Given the description of an element on the screen output the (x, y) to click on. 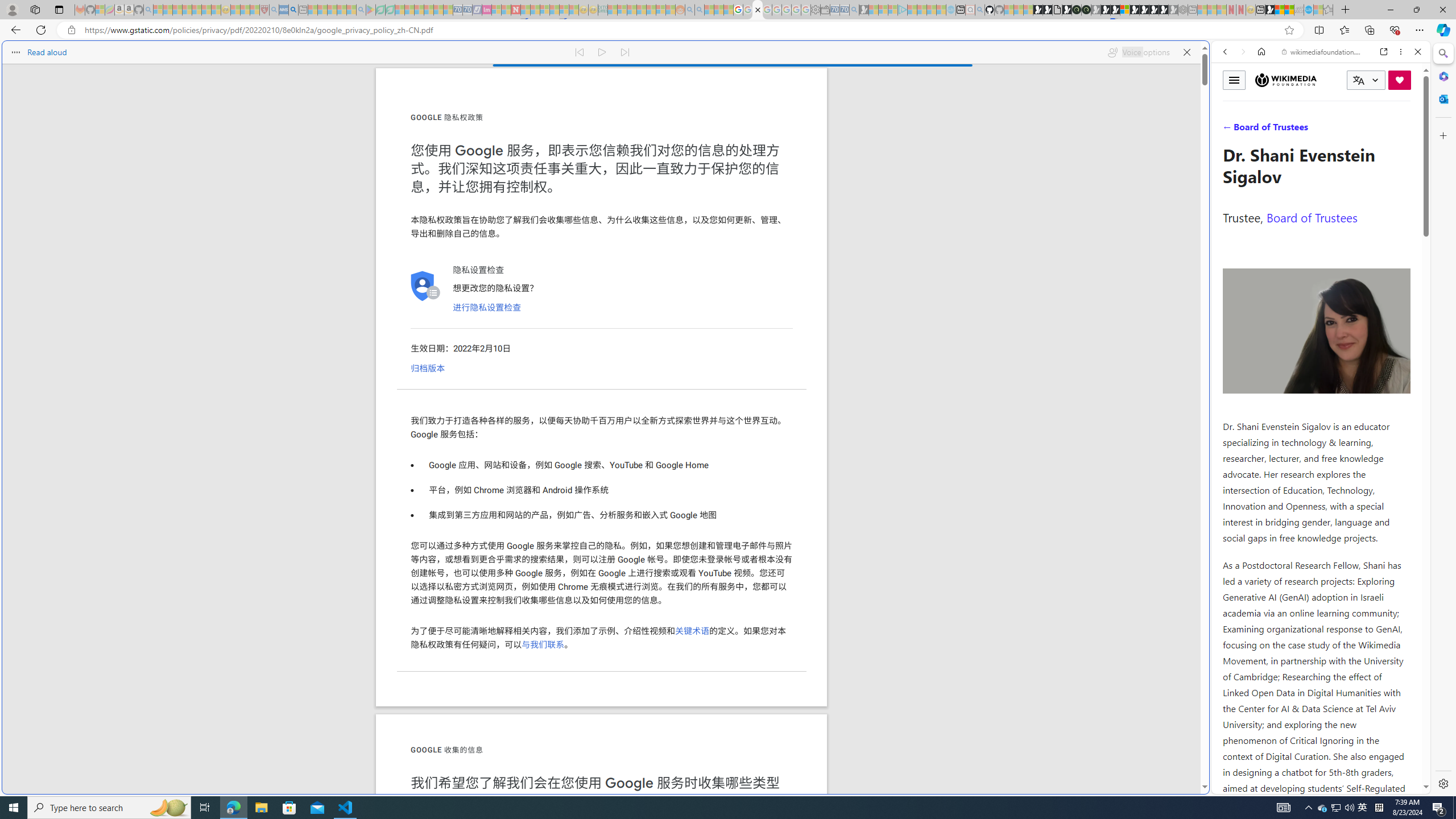
Wikimedia Foundation (1286, 79)
